Given the description of an element on the screen output the (x, y) to click on. 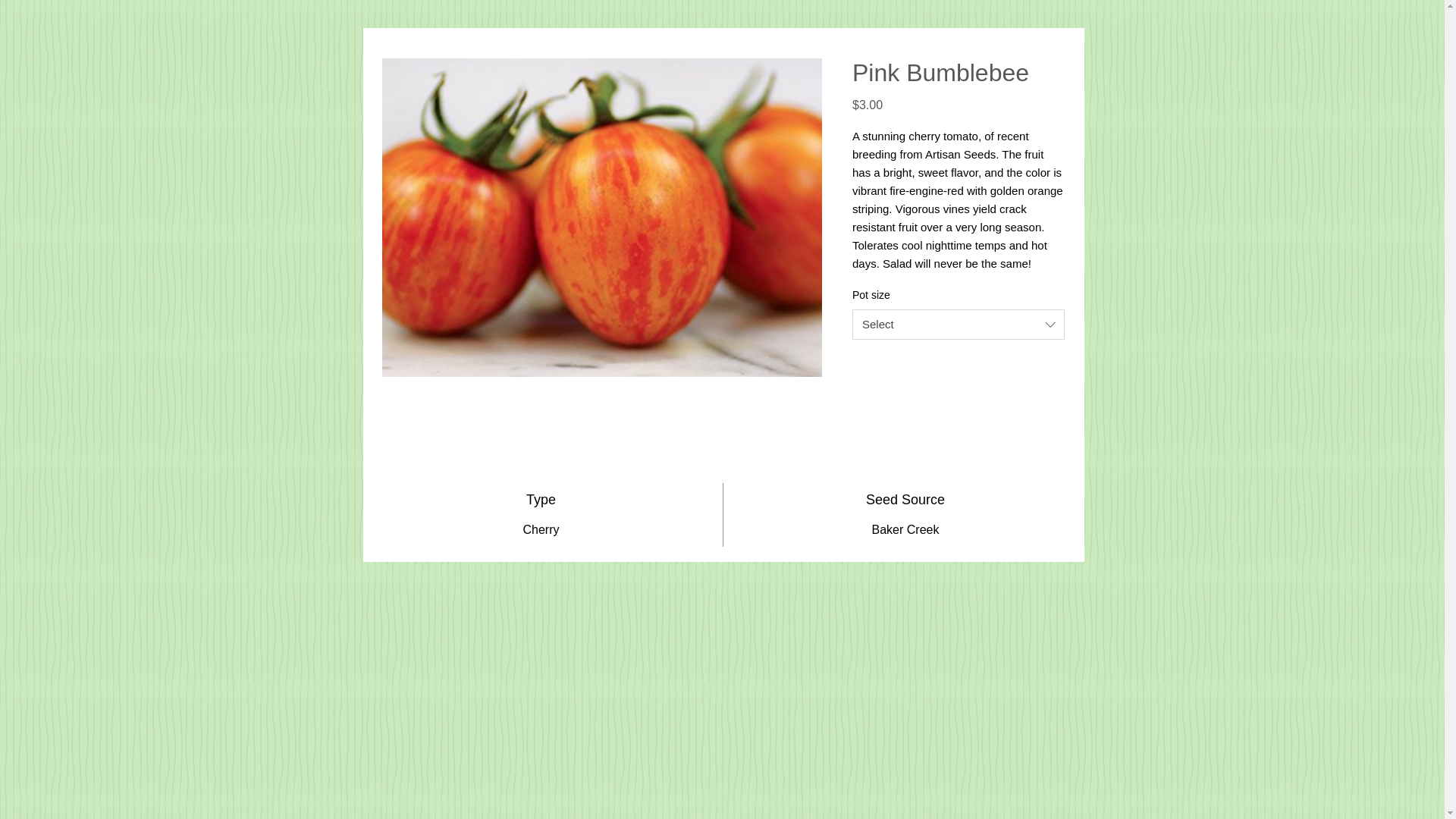
Select (957, 324)
